Given the description of an element on the screen output the (x, y) to click on. 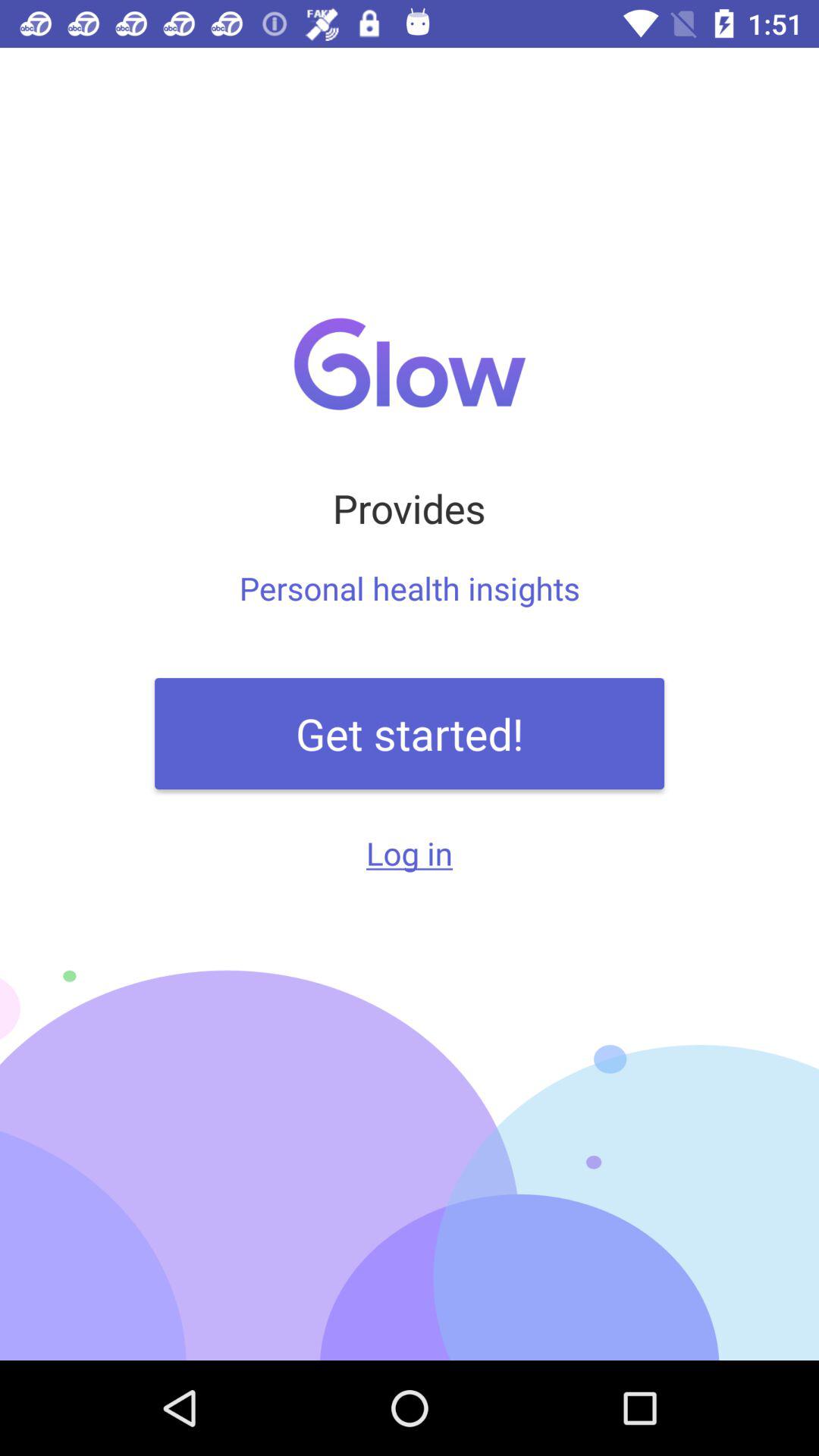
tap item below get started! item (409, 852)
